Given the description of an element on the screen output the (x, y) to click on. 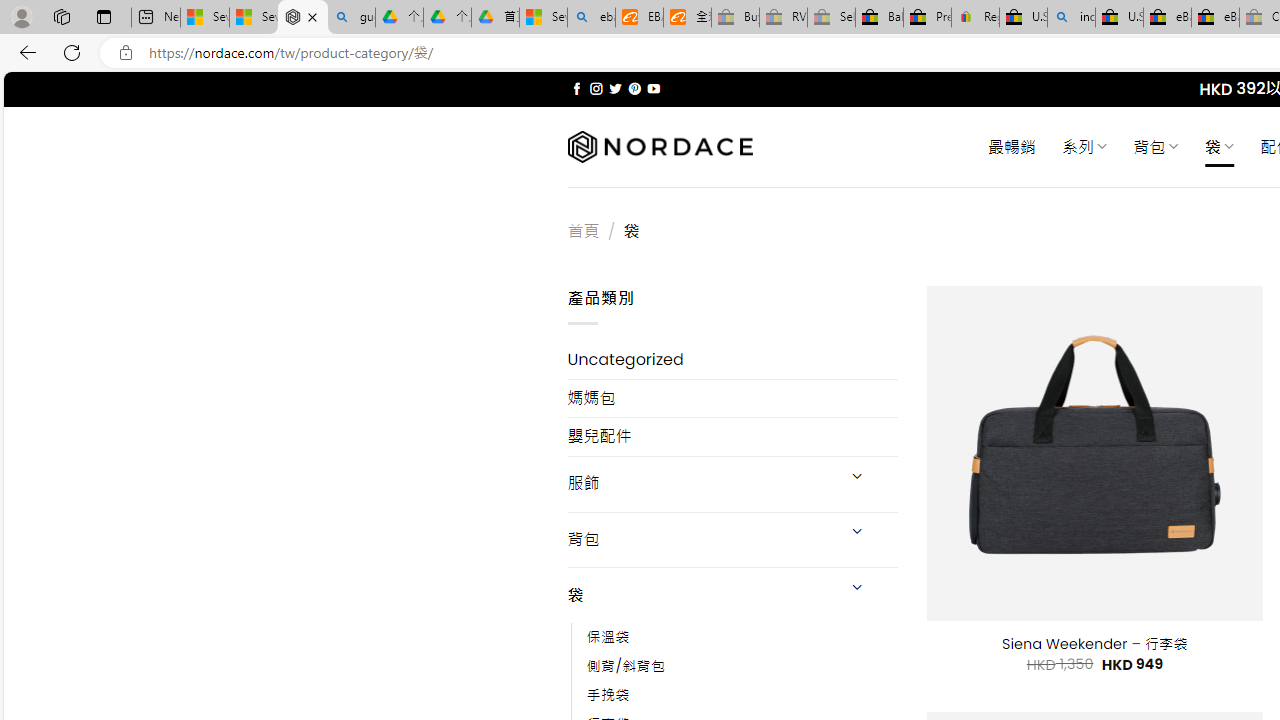
Sell worldwide with eBay - Sleeping (831, 17)
